Given the description of an element on the screen output the (x, y) to click on. 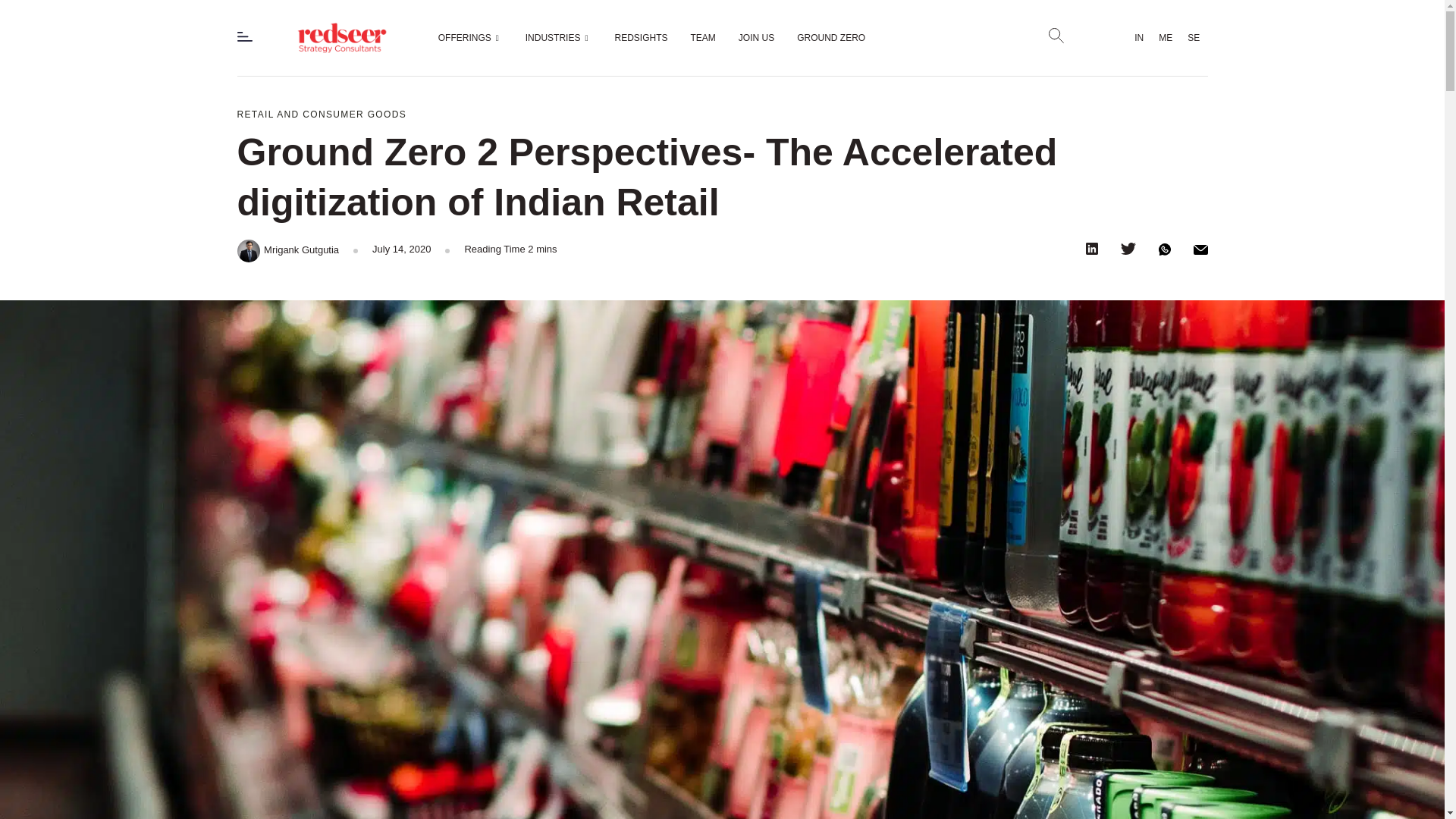
GROUND ZERO (831, 37)
ME (1165, 37)
JOIN US (756, 37)
REDSIGHTS (641, 37)
INDUSTRIES (558, 37)
OFFERINGS (469, 37)
